Given the description of an element on the screen output the (x, y) to click on. 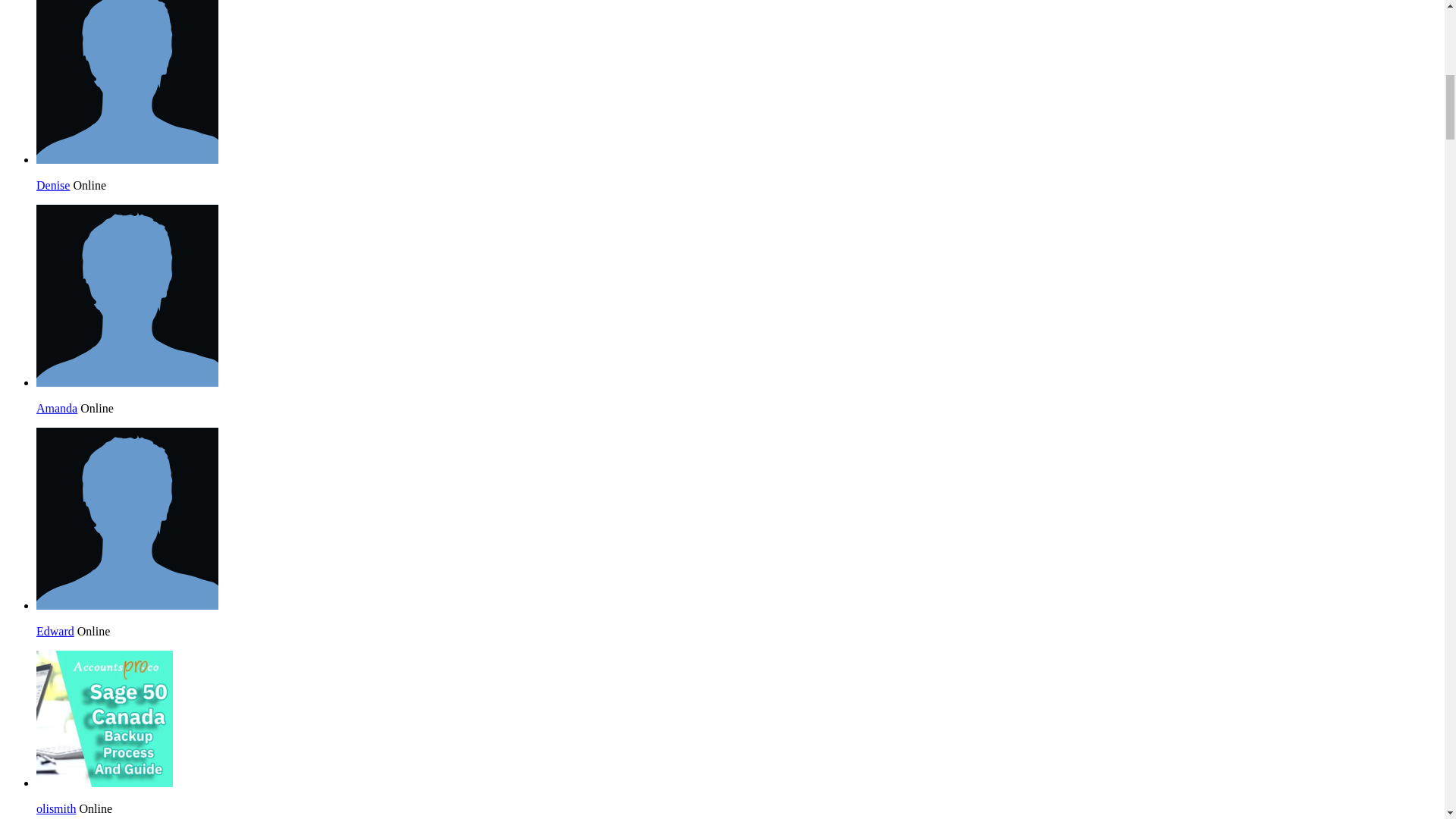
Amanda (56, 408)
Amanda (127, 382)
olismith (104, 782)
Denise (127, 159)
Denise (52, 185)
Edward (127, 604)
olismith (55, 808)
Edward (55, 631)
